Given the description of an element on the screen output the (x, y) to click on. 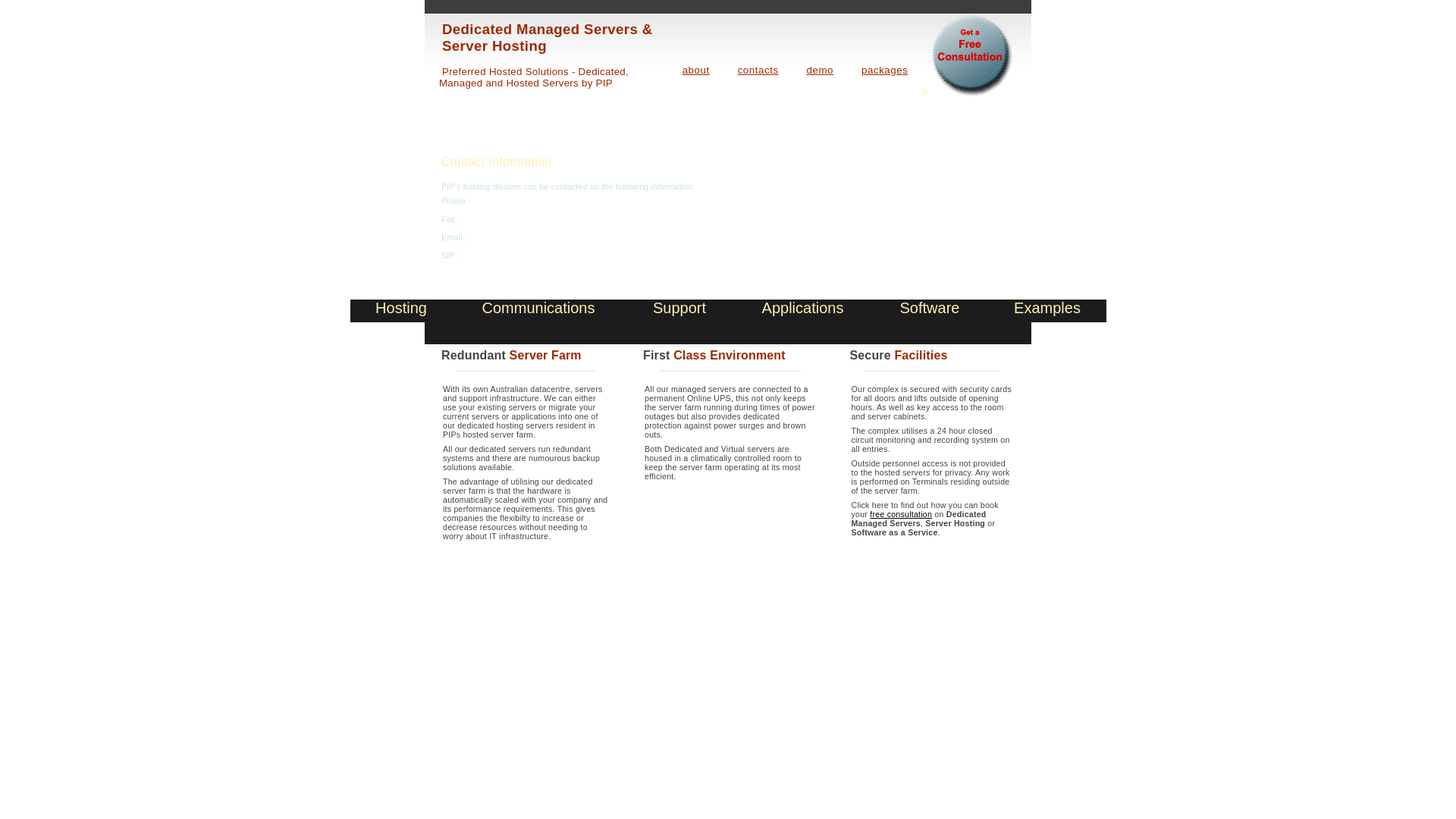
free consultation Element type: text (900, 513)
about Element type: text (695, 69)
> Element type: text (966, 91)
info@pip.com.au Element type: text (500, 236)
demo Element type: text (819, 69)
PIP Element type: text (604, 82)
contacts Element type: text (757, 69)
packages Element type: text (884, 69)
